Given the description of an element on the screen output the (x, y) to click on. 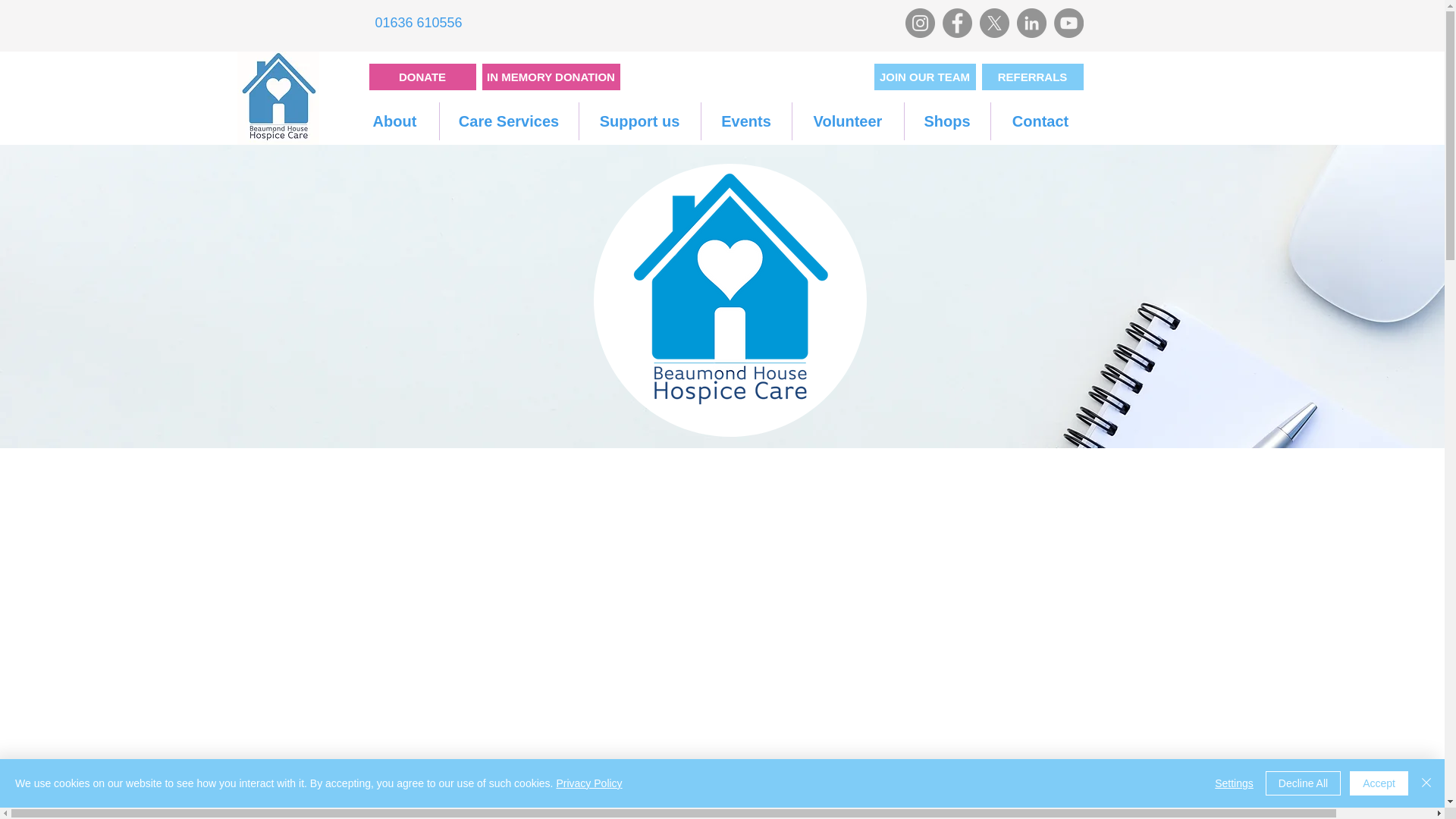
01636 610556 (418, 22)
Care Services (508, 121)
About (394, 121)
JOIN OUR TEAM (924, 76)
DONATE (422, 76)
REFERRALS (1032, 76)
Support us (639, 121)
IN MEMORY DONATION (550, 76)
